Given the description of an element on the screen output the (x, y) to click on. 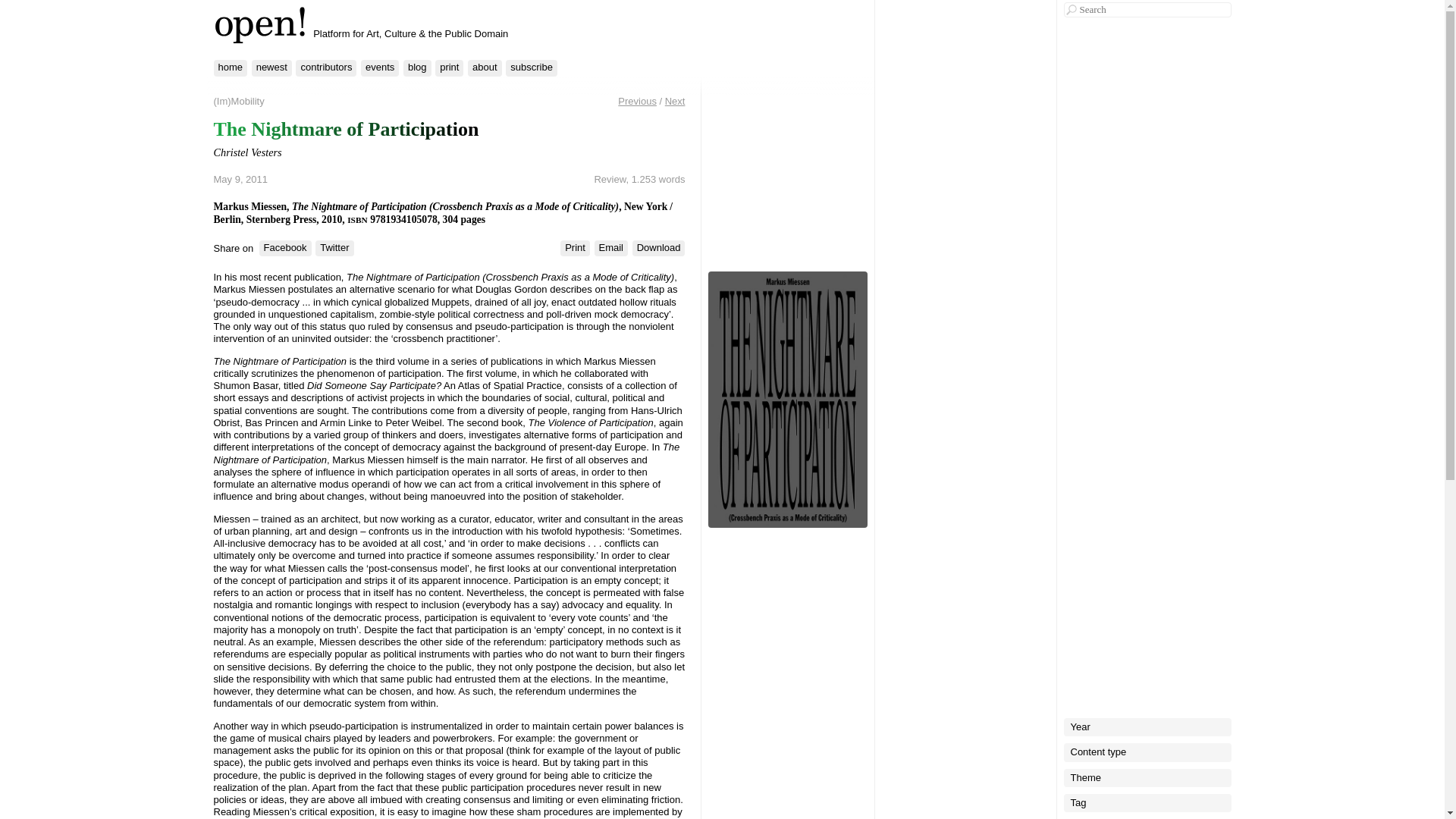
Email (611, 248)
newest (271, 67)
Twitter (334, 248)
events (379, 67)
Download (658, 248)
Previous (636, 101)
Next (675, 101)
home (230, 67)
about (484, 67)
Facebook (285, 248)
print (449, 67)
subscribe (531, 67)
blog (416, 67)
Christel Vesters (248, 152)
contributors (325, 67)
